Given the description of an element on the screen output the (x, y) to click on. 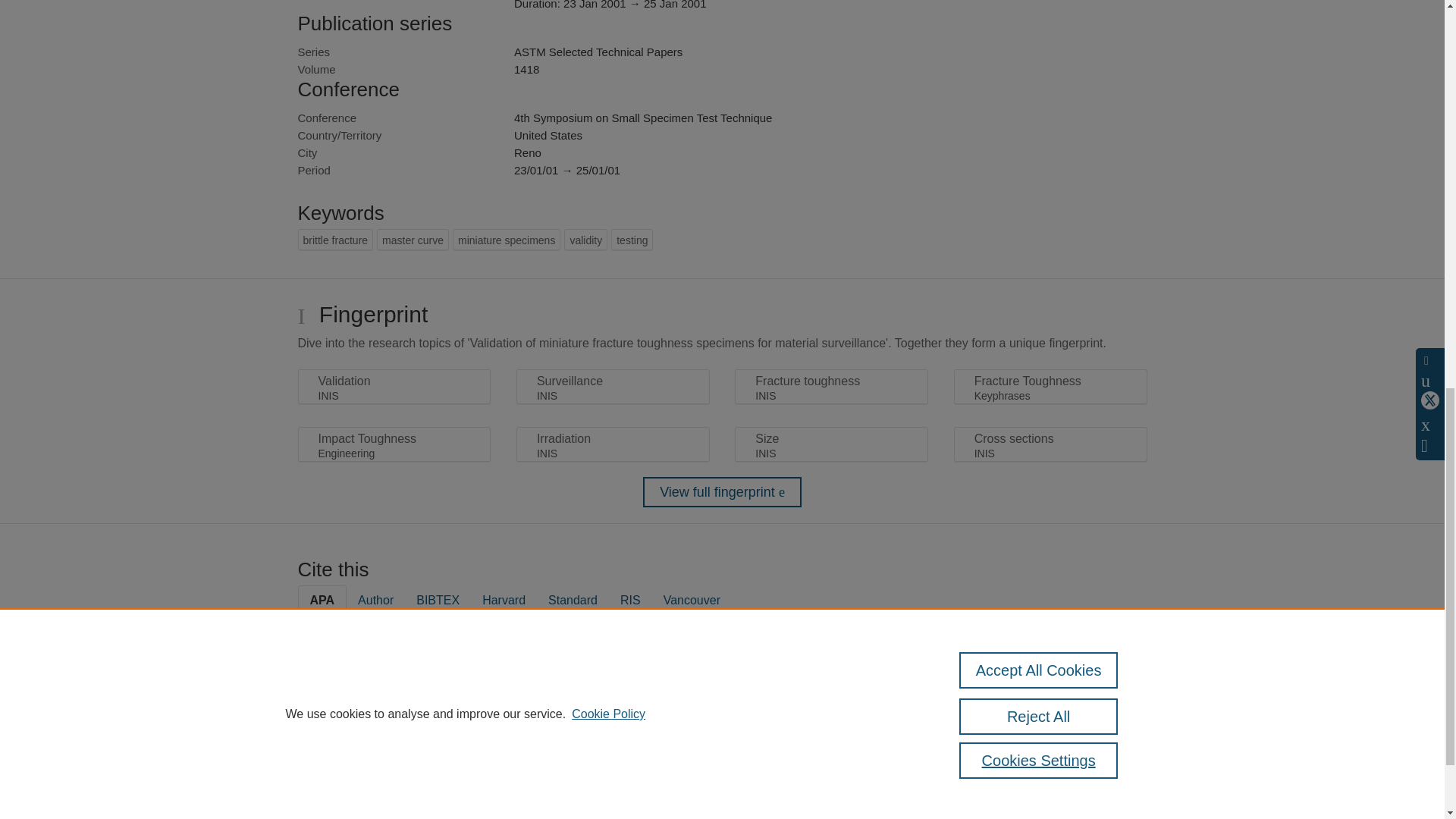
View full fingerprint (722, 491)
Scopus (394, 778)
Pure (362, 778)
